Given the description of an element on the screen output the (x, y) to click on. 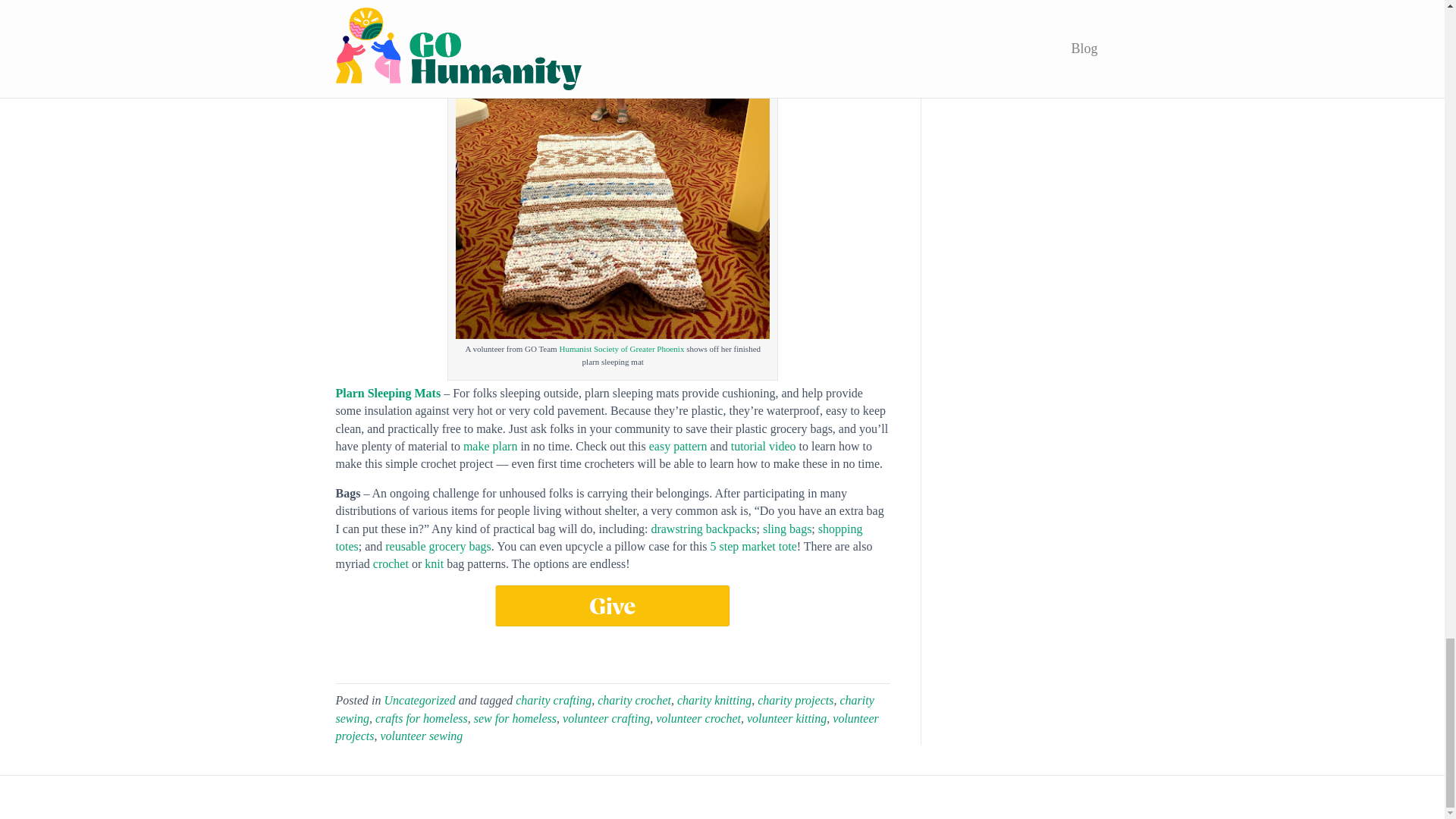
easy pattern (678, 445)
tutorial video (763, 445)
crafts for homeless (421, 717)
reusable grocery bags (438, 545)
charity sewing (603, 708)
charity crafting (553, 699)
shopping totes (597, 537)
sling bags (786, 528)
charity knitting (714, 699)
crochet (390, 563)
charity crochet (633, 699)
charity projects (794, 699)
5 step market tote (753, 545)
make plarn (490, 445)
Uncategorized (419, 699)
